Given the description of an element on the screen output the (x, y) to click on. 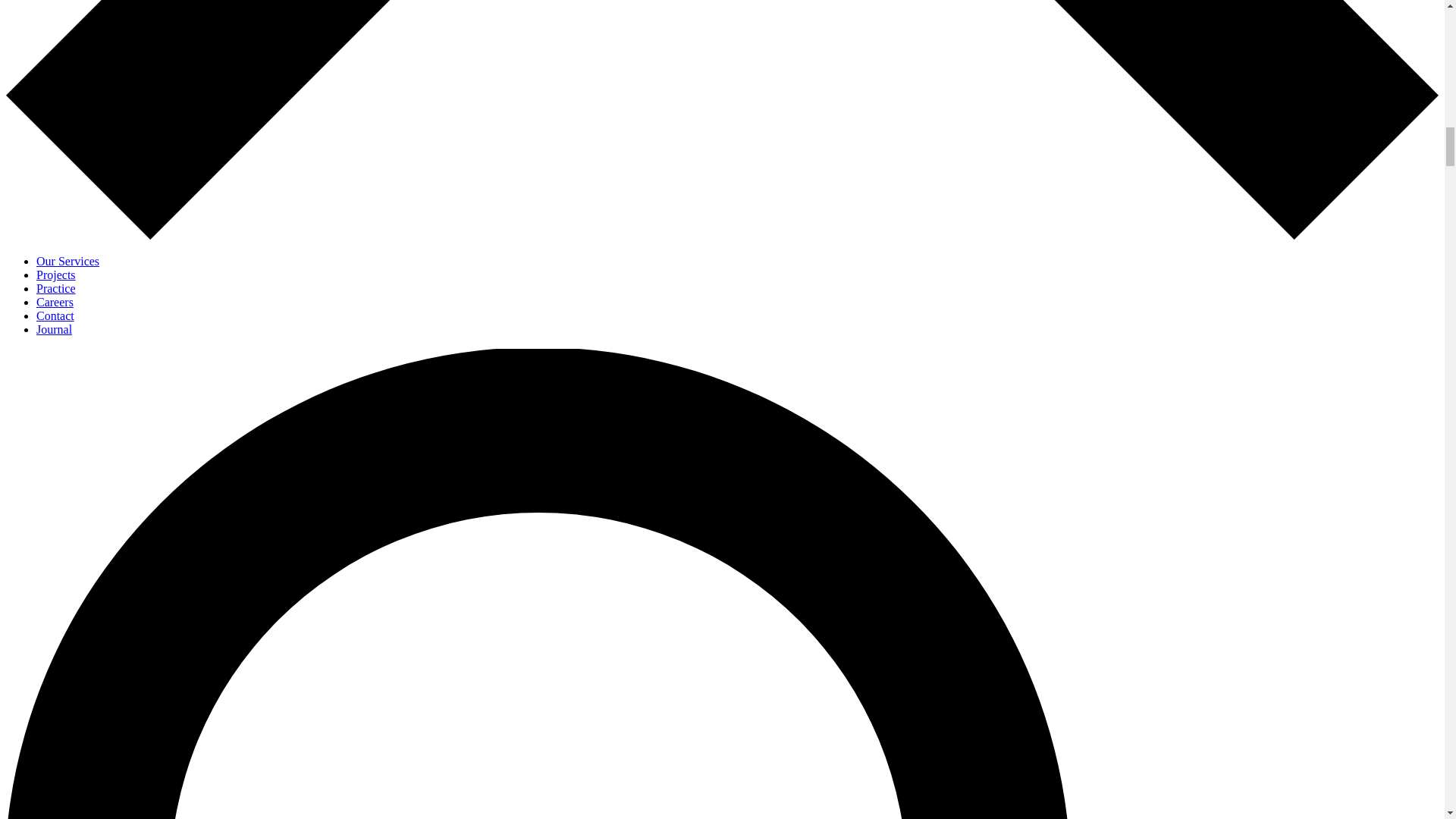
Projects (55, 274)
Careers (55, 301)
Practice (55, 287)
Journal (53, 328)
Our Services (67, 260)
Contact (55, 315)
